Given the description of an element on the screen output the (x, y) to click on. 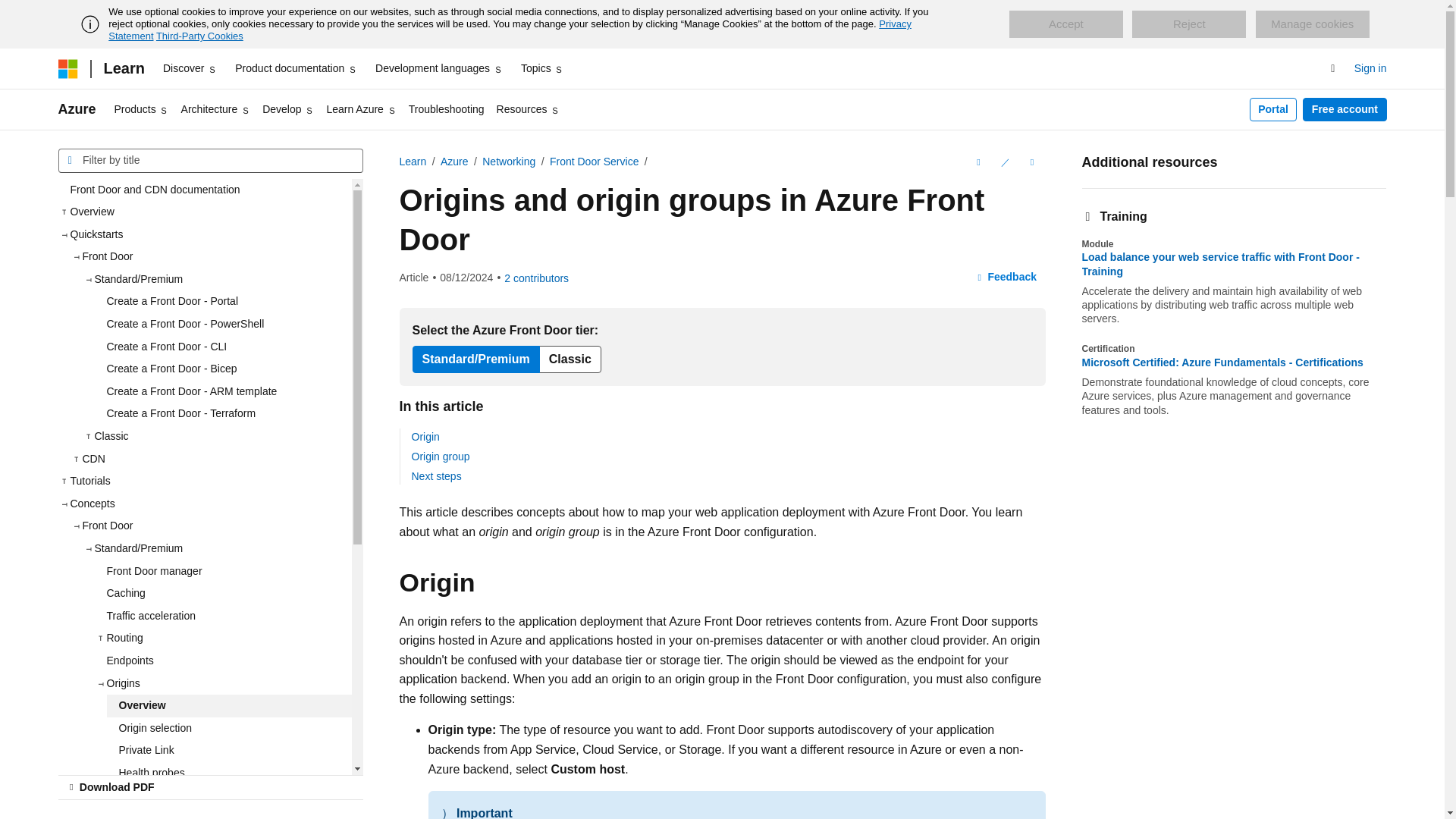
Privacy Statement (509, 29)
Sign in (1370, 68)
Products (140, 109)
Development languages (438, 68)
Learn (123, 68)
Azure (77, 109)
Edit This Document (1004, 161)
View all contributors (536, 277)
Accept (1065, 23)
